Given the description of an element on the screen output the (x, y) to click on. 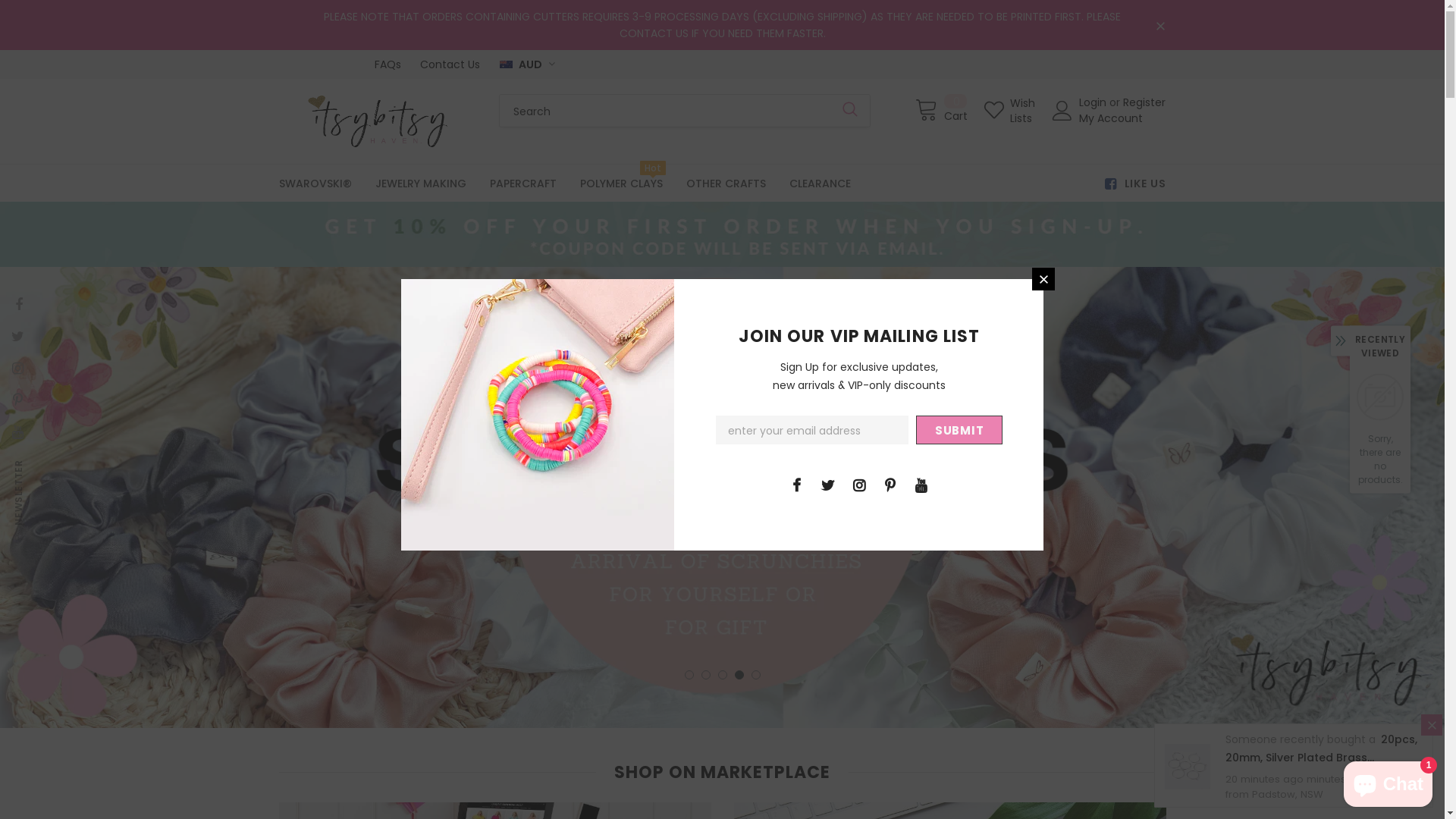
0
Cart Element type: text (940, 109)
FAQs Element type: text (387, 64)
Close Element type: hover (1431, 724)
YouTube Element type: hover (921, 484)
Close Element type: hover (1043, 278)
Wish Lists Element type: text (1009, 109)
2 Element type: text (704, 674)
OTHER CRAFTS Element type: text (725, 182)
Contact Us Element type: text (450, 64)
Facebook Element type: hover (18, 302)
POLYMER CLAYS
Hot Element type: text (620, 182)
CLEARANCE Element type: text (819, 182)
1 Element type: text (688, 674)
User Icon Element type: hover (1062, 109)
4 Element type: text (738, 674)
My Account Element type: text (1110, 117)
Submit Element type: text (959, 429)
YouTube Element type: hover (17, 430)
Shopify online store chat Element type: hover (1388, 780)
close Element type: hover (1159, 25)
Twitter Element type: hover (826, 484)
JEWELRY MAKING Element type: text (419, 182)
Facebook Element type: hover (796, 484)
PAPERCRAFT Element type: text (522, 182)
Twitter Element type: hover (17, 334)
Pinterest Element type: hover (889, 484)
Instagram Element type: hover (858, 484)
LIKE US Element type: text (1128, 183)
Pinterest Element type: hover (17, 398)
5 Element type: text (754, 674)
3 Element type: text (721, 674)
Login Element type: text (1094, 101)
Instagram Element type: hover (17, 366)
Register Element type: text (1144, 101)
Logo Element type: hover (377, 121)
